Given the description of an element on the screen output the (x, y) to click on. 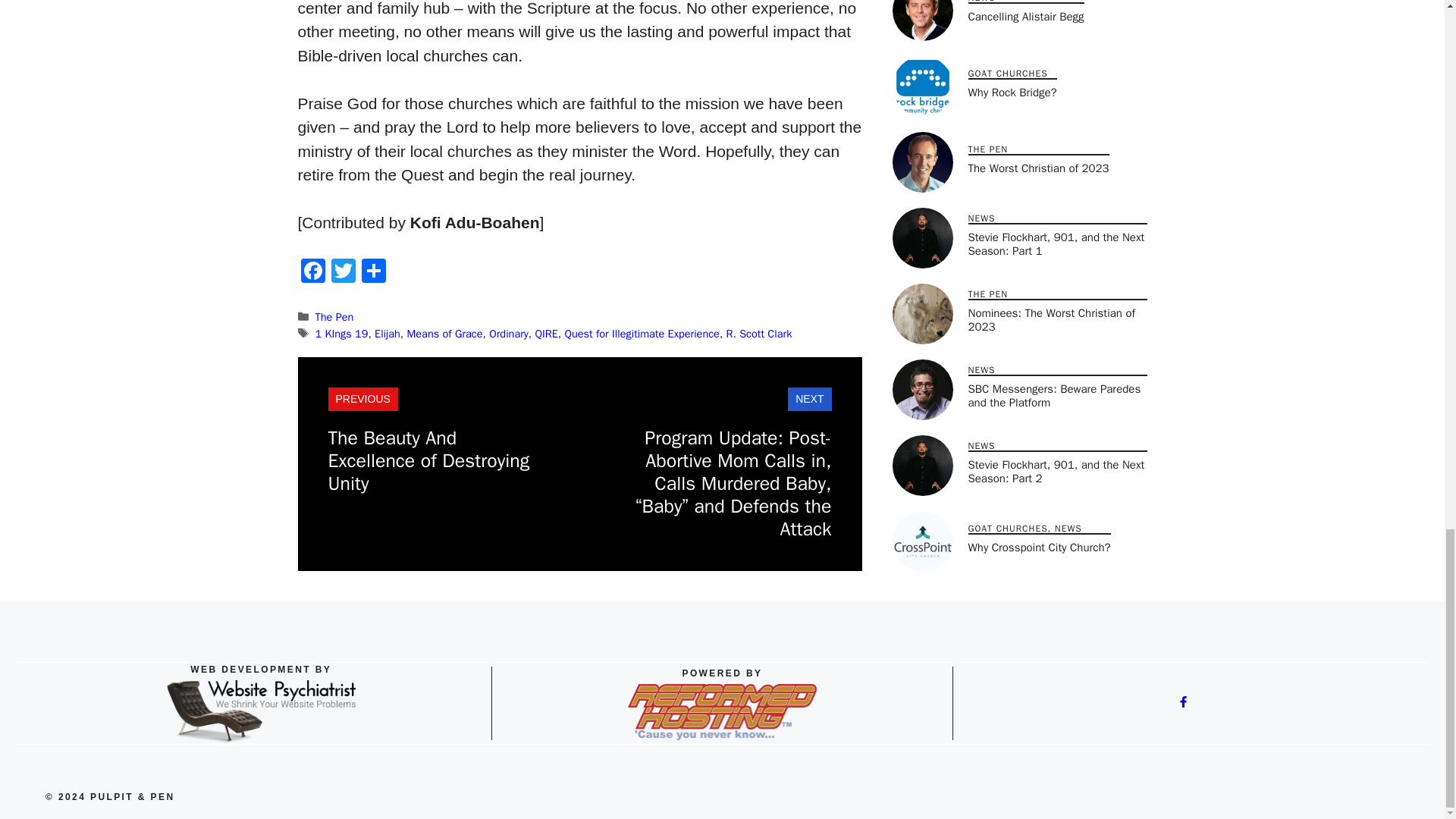
Means of Grace (443, 333)
QIRE (546, 333)
Share (373, 272)
1 KIngs 19 (341, 333)
Ordinary (508, 333)
Twitter (342, 272)
Facebook (312, 272)
Elijah (387, 333)
Website-Psychiatrist-Logo-300x108-1 (260, 711)
The Pen (334, 316)
Facebook (312, 272)
R. Scott Clark (759, 333)
Twitter (342, 272)
Quest for Illegitimate Experience (641, 333)
Reformed-Hosting-Logo-250x49-1 (721, 711)
